Given the description of an element on the screen output the (x, y) to click on. 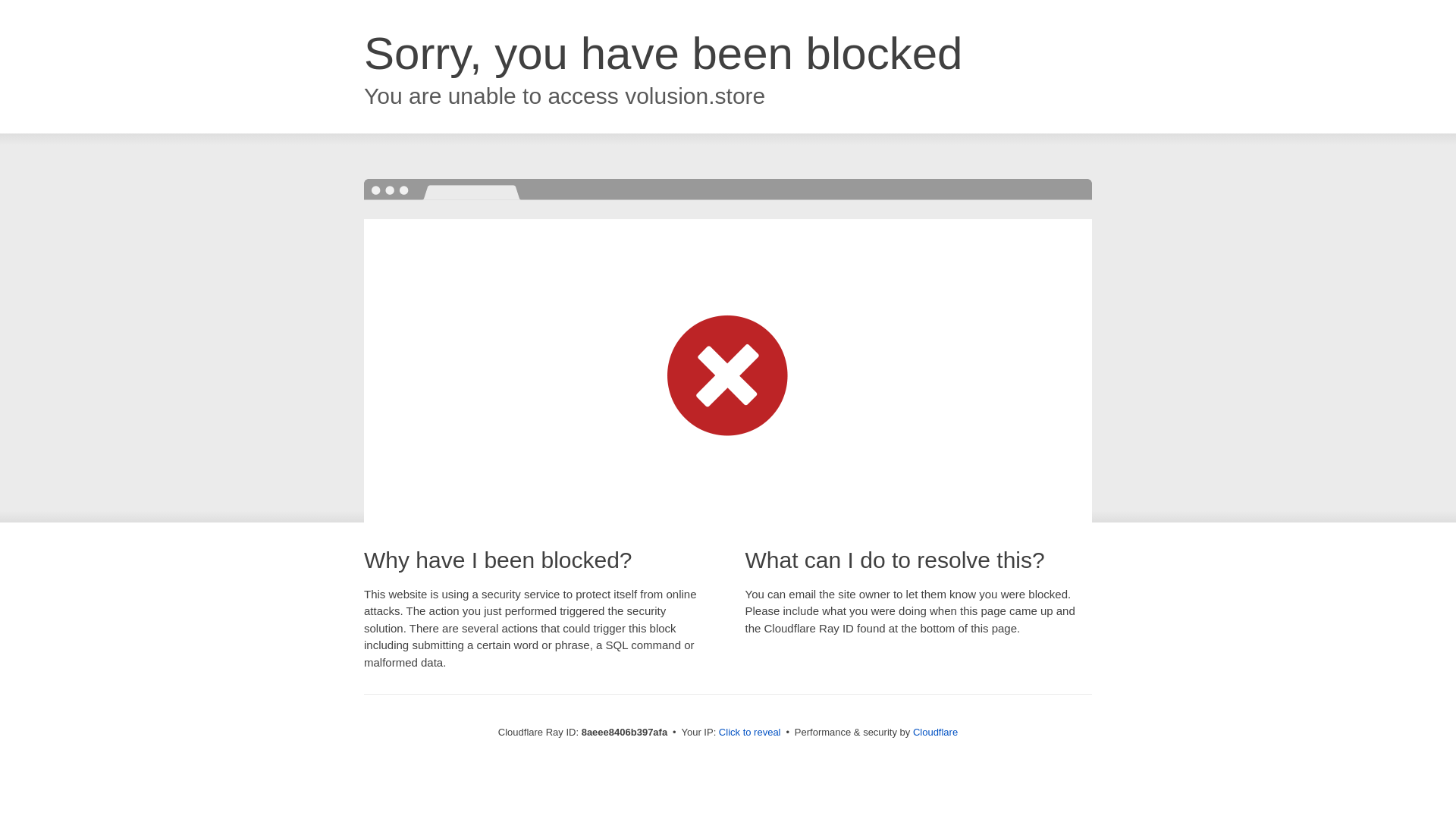
Click to reveal (749, 732)
Cloudflare (935, 731)
